Given the description of an element on the screen output the (x, y) to click on. 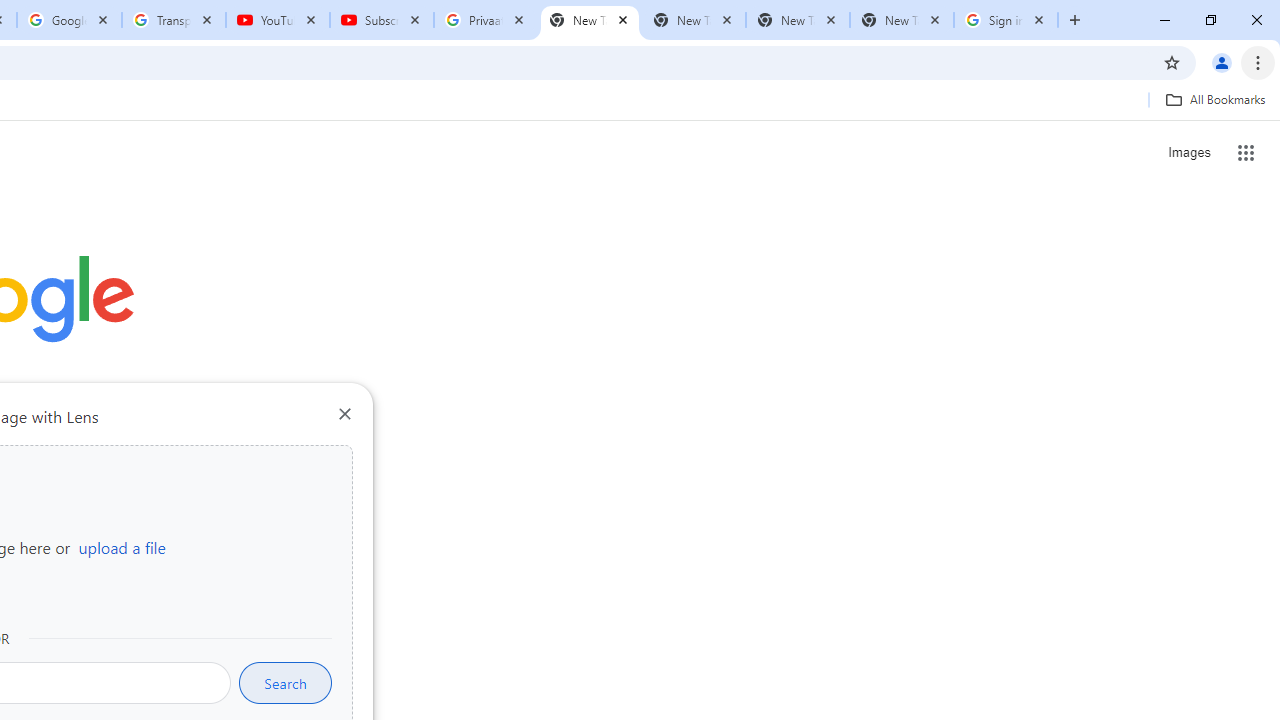
Subscriptions - YouTube (381, 20)
YouTube (278, 20)
Google Account (68, 20)
New Tab (901, 20)
